Given the description of an element on the screen output the (x, y) to click on. 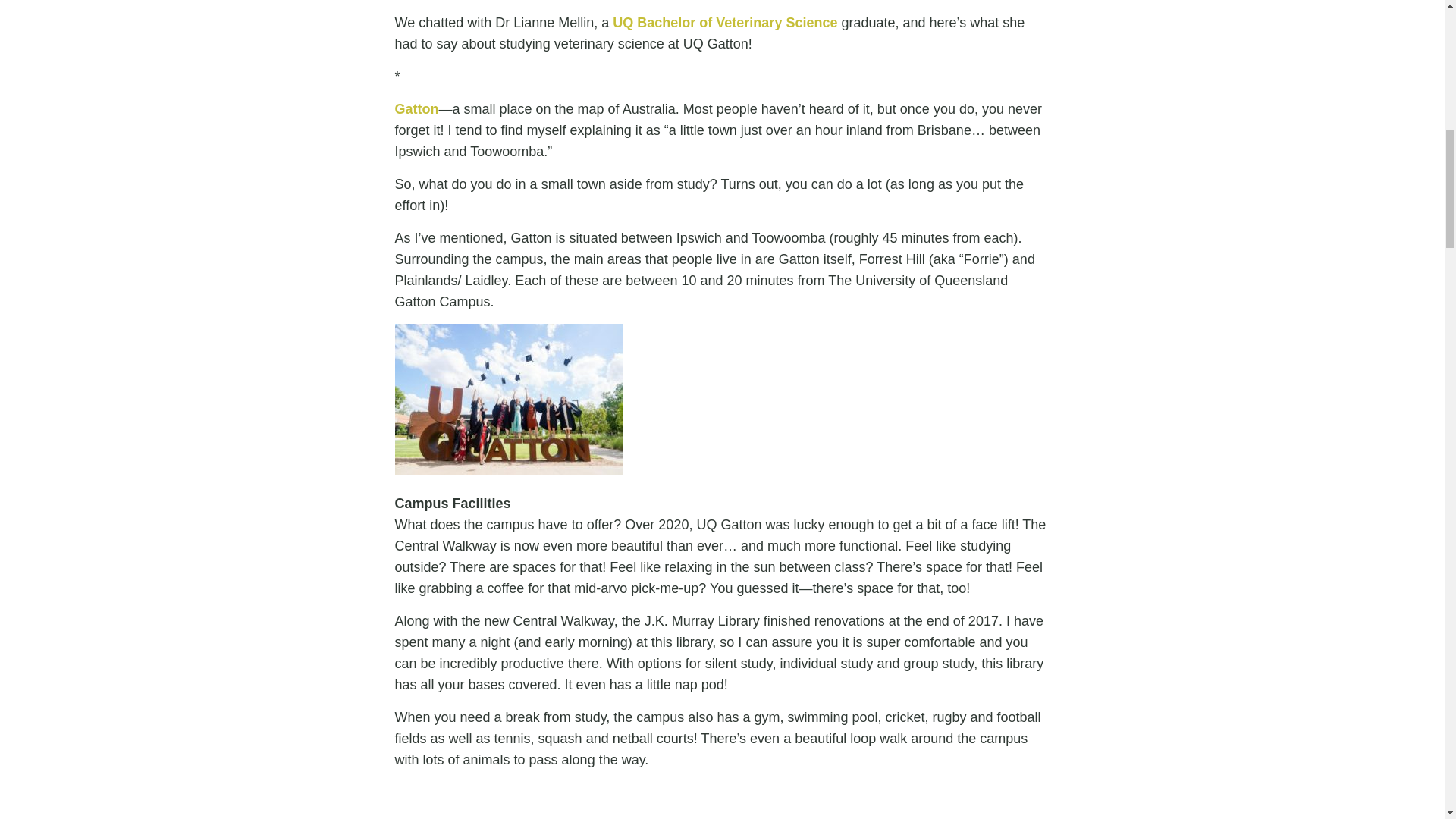
Learn more about UQ Veterinary School (507, 399)
YouTube video player (538, 800)
